Given the description of an element on the screen output the (x, y) to click on. 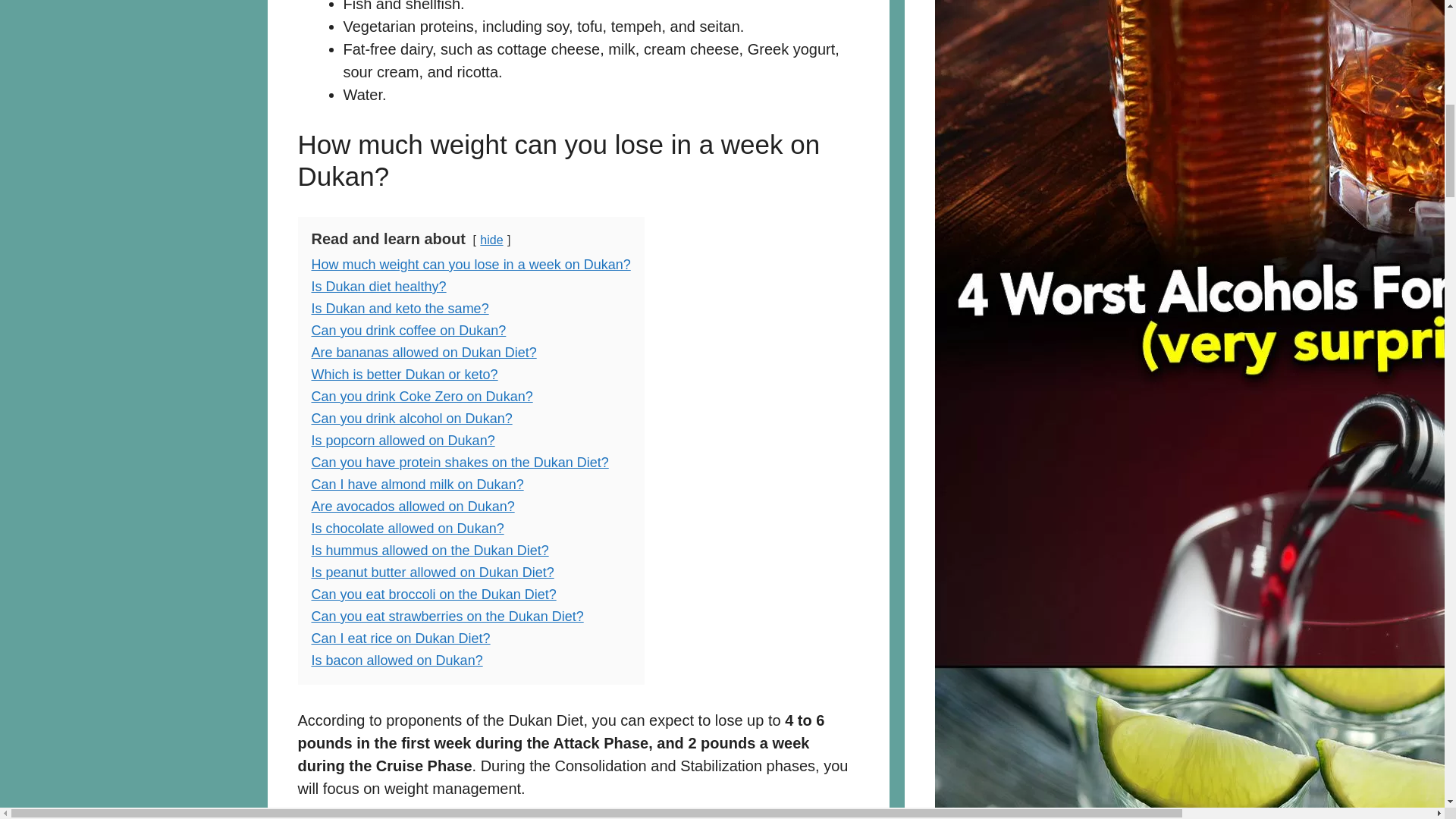
Can you eat strawberries on the Dukan Diet? (447, 616)
Are bananas allowed on Dukan Diet? (423, 352)
Is peanut butter allowed on Dukan Diet? (432, 572)
hide (491, 239)
Can you eat broccoli on the Dukan Diet? (433, 594)
How much weight can you lose in a week on Dukan? (470, 264)
Can you drink alcohol on Dukan? (411, 418)
Can you drink coffee on Dukan? (408, 330)
Is chocolate allowed on Dukan? (407, 528)
Can I have almond milk on Dukan? (416, 484)
